Given the description of an element on the screen output the (x, y) to click on. 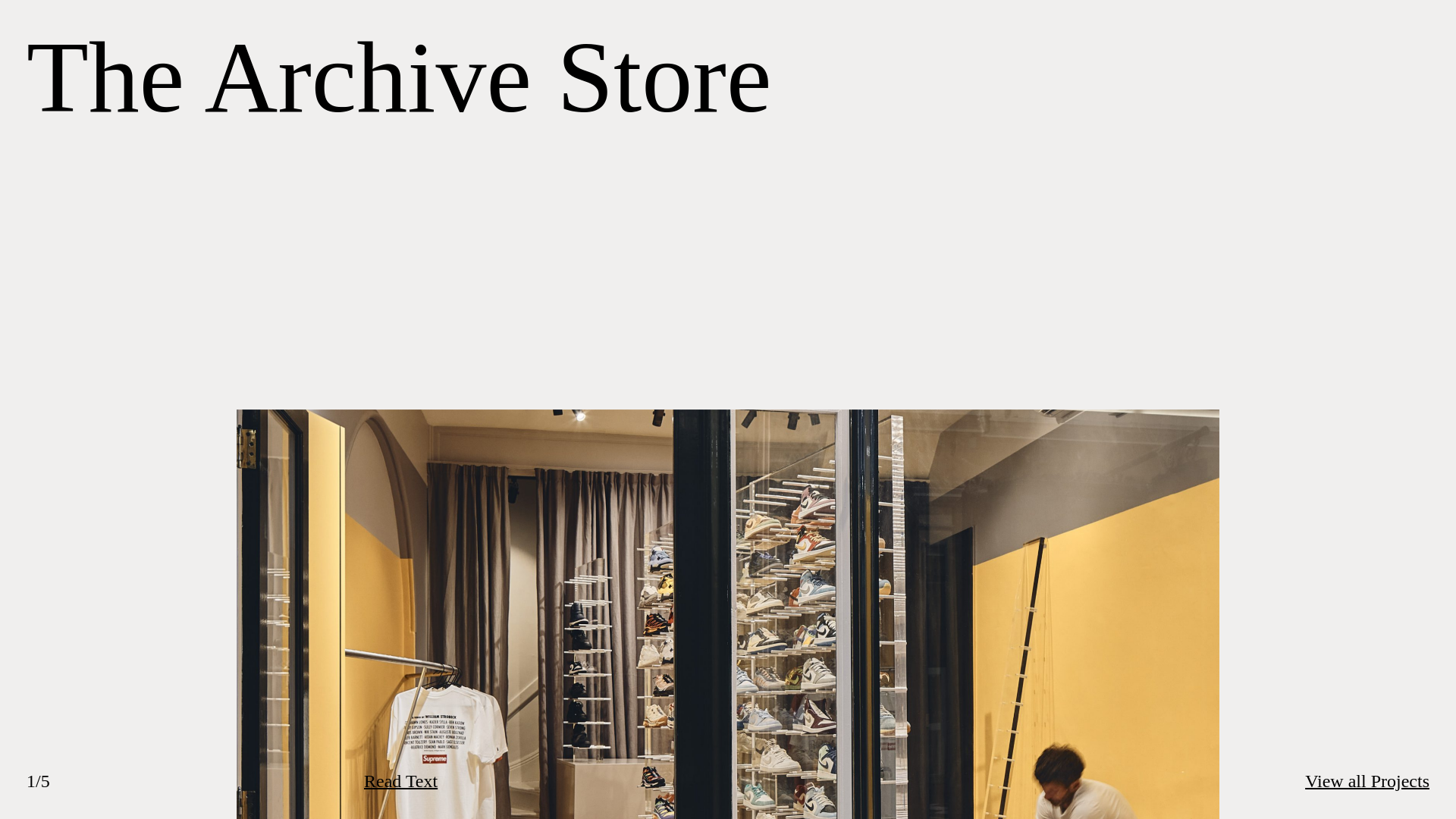
View all Projects (1366, 781)
Read Text (401, 781)
